Given the description of an element on the screen output the (x, y) to click on. 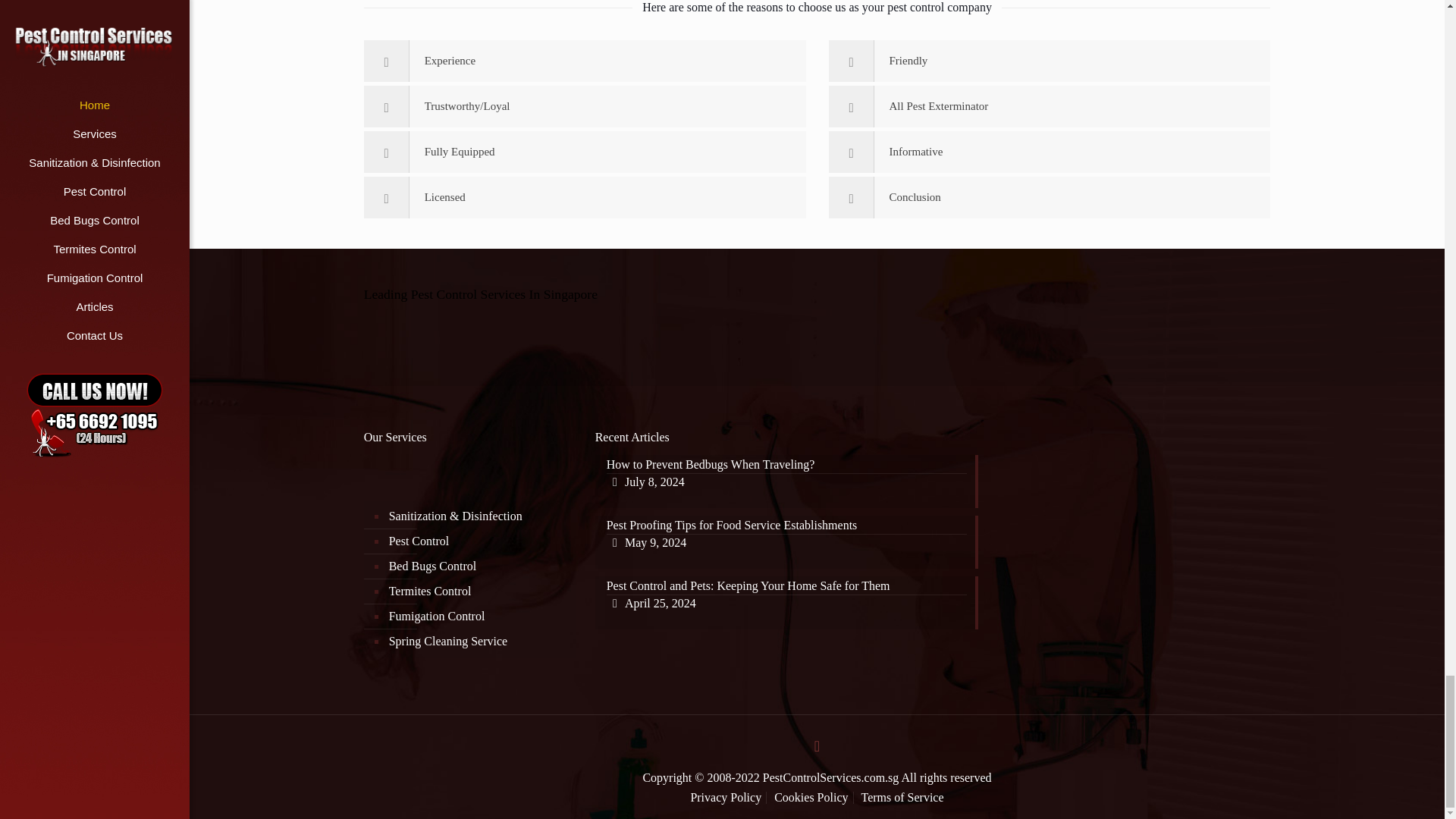
Fumigation Control (478, 616)
Terms of Service (902, 797)
Spring Cleaning Service (478, 641)
Privacy Policy (725, 797)
Cookies Policy (810, 797)
Bed Bugs Control (478, 566)
Termites Control (478, 591)
Pest Control (817, 481)
